Given the description of an element on the screen output the (x, y) to click on. 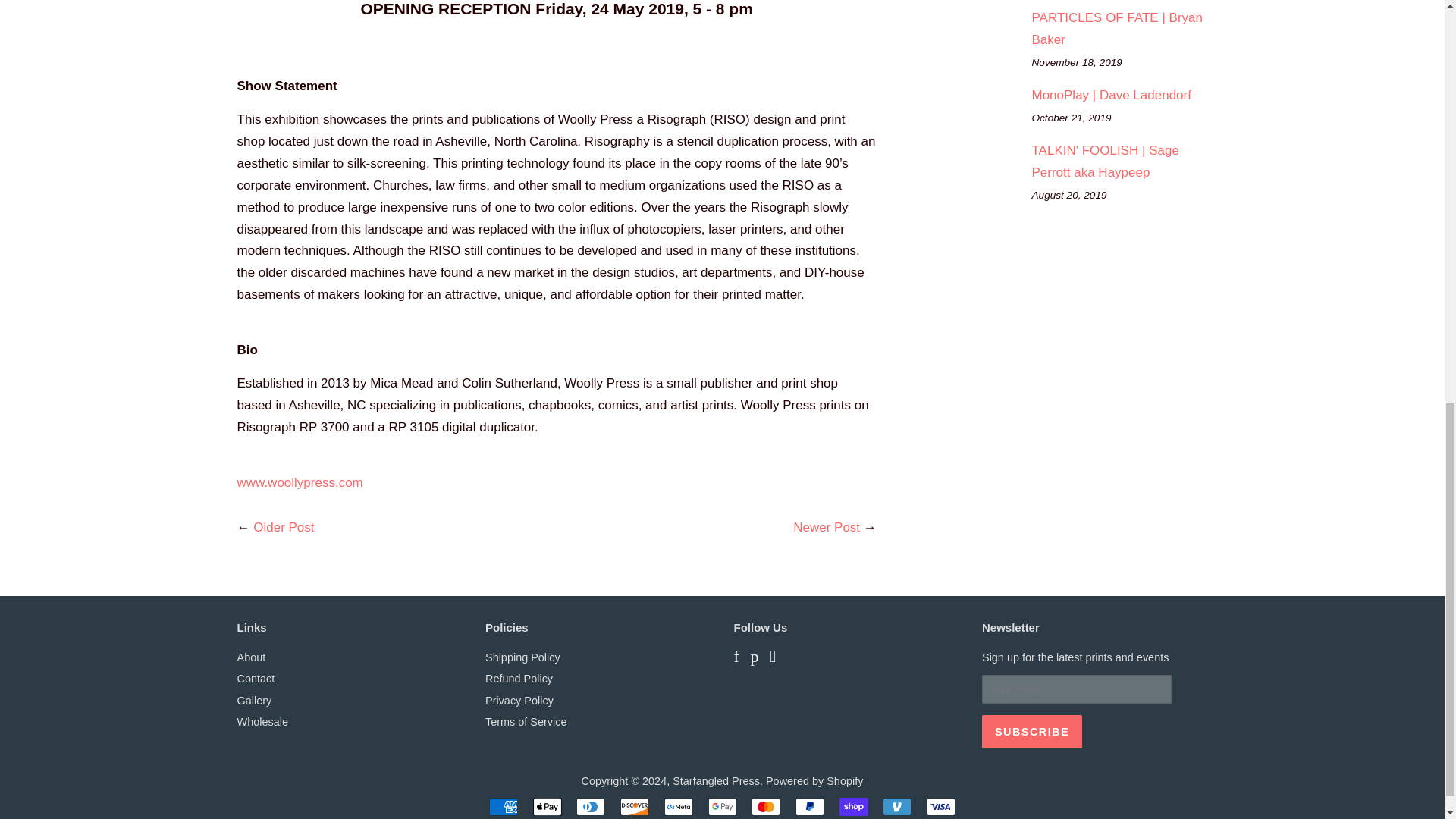
Google Pay (721, 806)
Apple Pay (547, 806)
American Express (503, 806)
Discover (634, 806)
Diners Club (590, 806)
Meta Pay (678, 806)
PayPal (809, 806)
Visa (940, 806)
Mastercard (765, 806)
Shop Pay (853, 806)
Venmo (896, 806)
Subscribe (1031, 731)
